Given the description of an element on the screen output the (x, y) to click on. 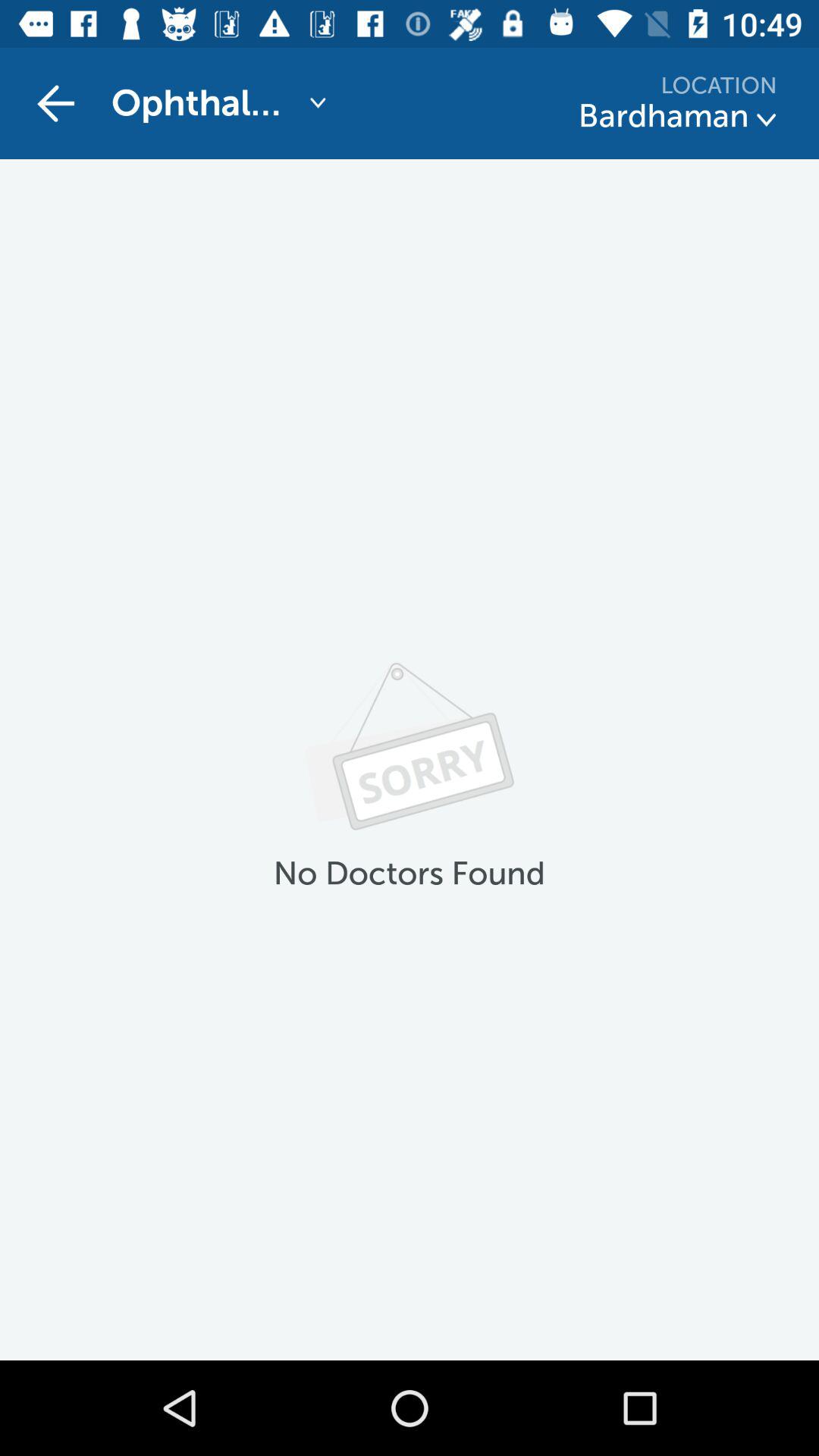
select item above no doctors found item (55, 103)
